Given the description of an element on the screen output the (x, y) to click on. 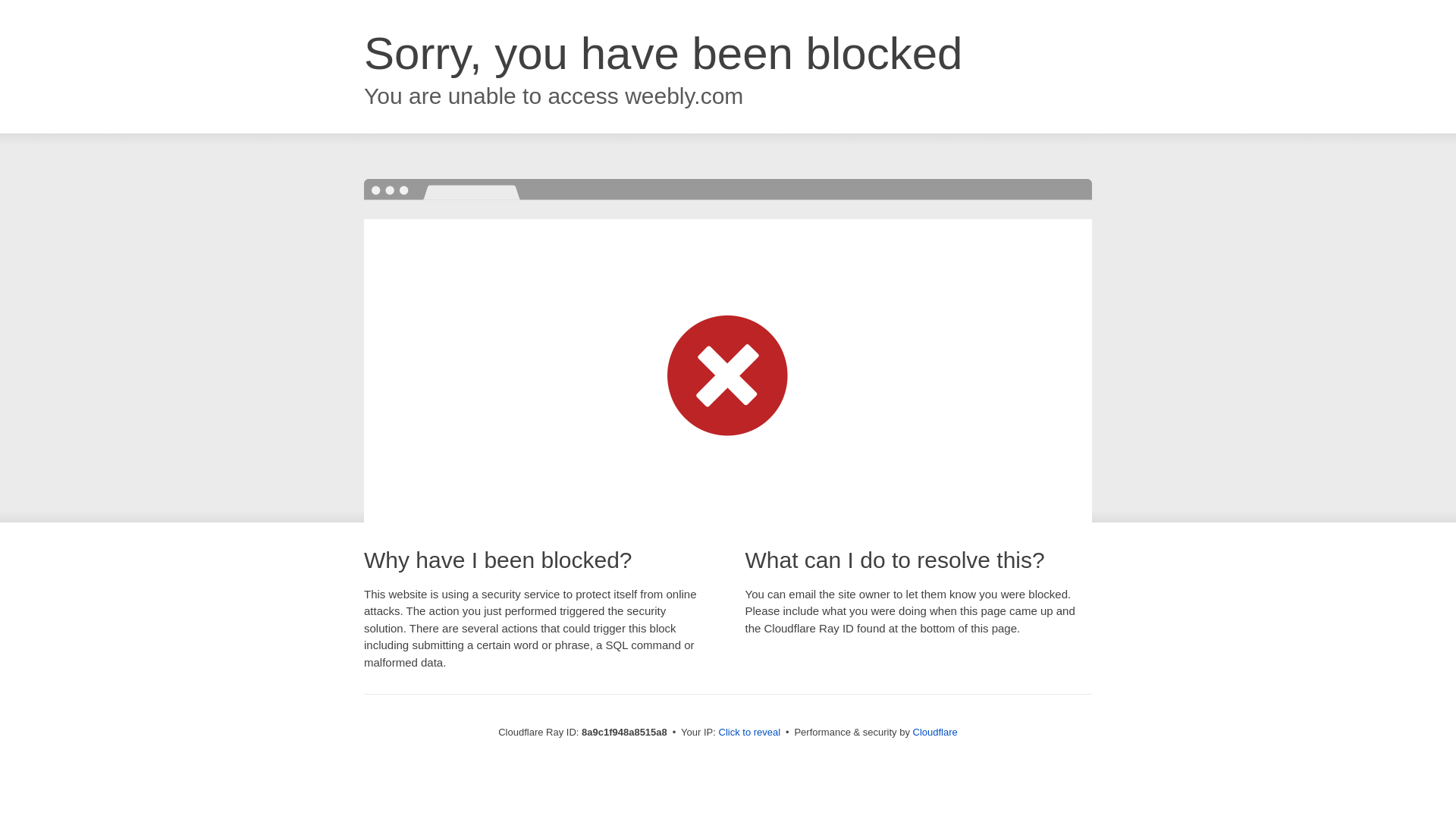
Click to reveal (749, 732)
Cloudflare (935, 731)
